Given the description of an element on the screen output the (x, y) to click on. 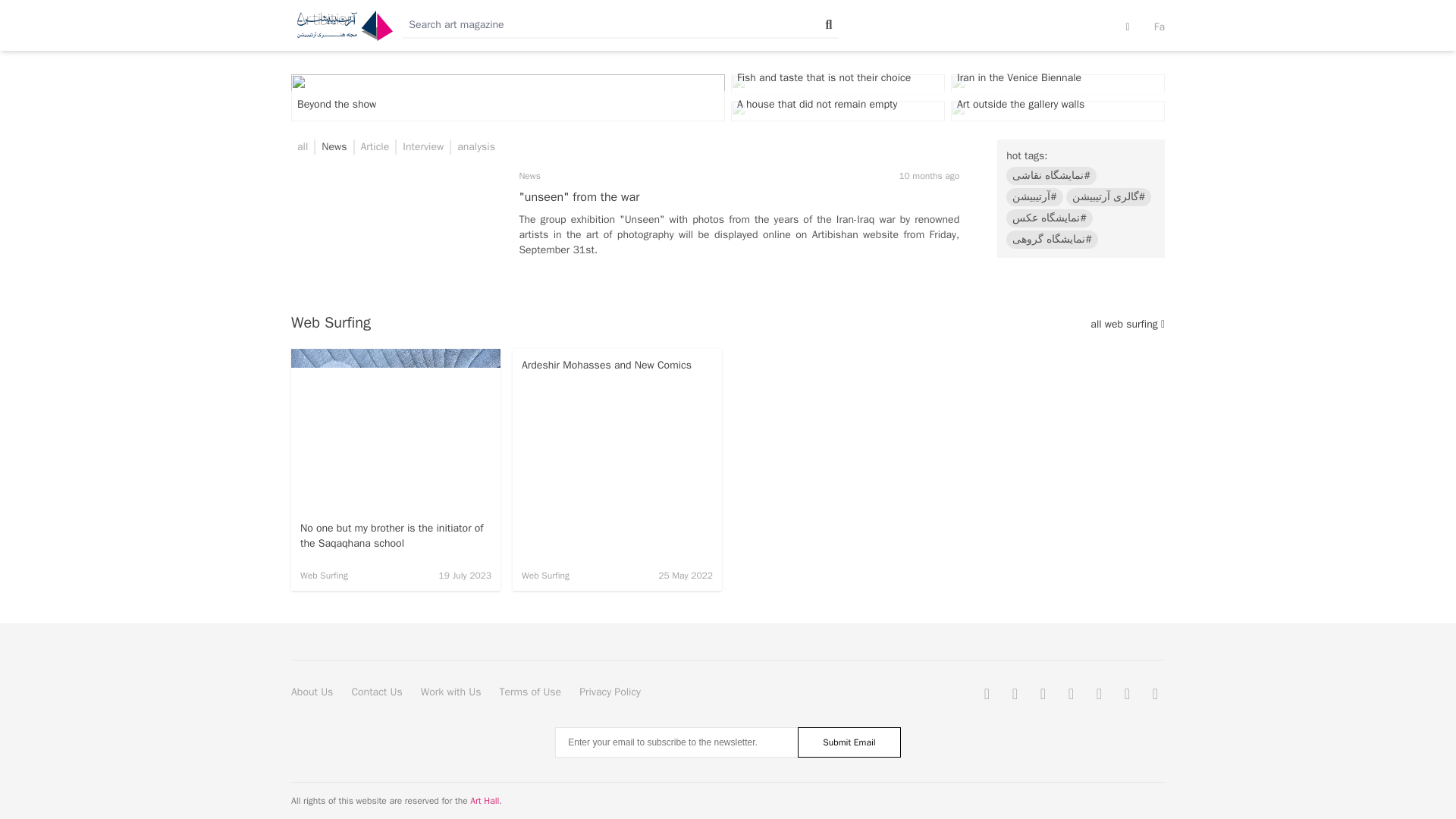
News (333, 146)
Fish and taste that is not their choice (837, 84)
analysis (476, 146)
Web Surfing (323, 575)
Instagram (1015, 693)
Beyond the show (508, 97)
Beyond the show (508, 97)
Ardeshir Mohasses and New Comics (617, 365)
A house that did not remain empty (837, 110)
YouTube (1042, 693)
all web surfing (1127, 324)
Art outside the gallery walls (1057, 110)
Iran in the Venice Biennale (1057, 84)
Fish and taste that is not their choice (837, 84)
